Given the description of an element on the screen output the (x, y) to click on. 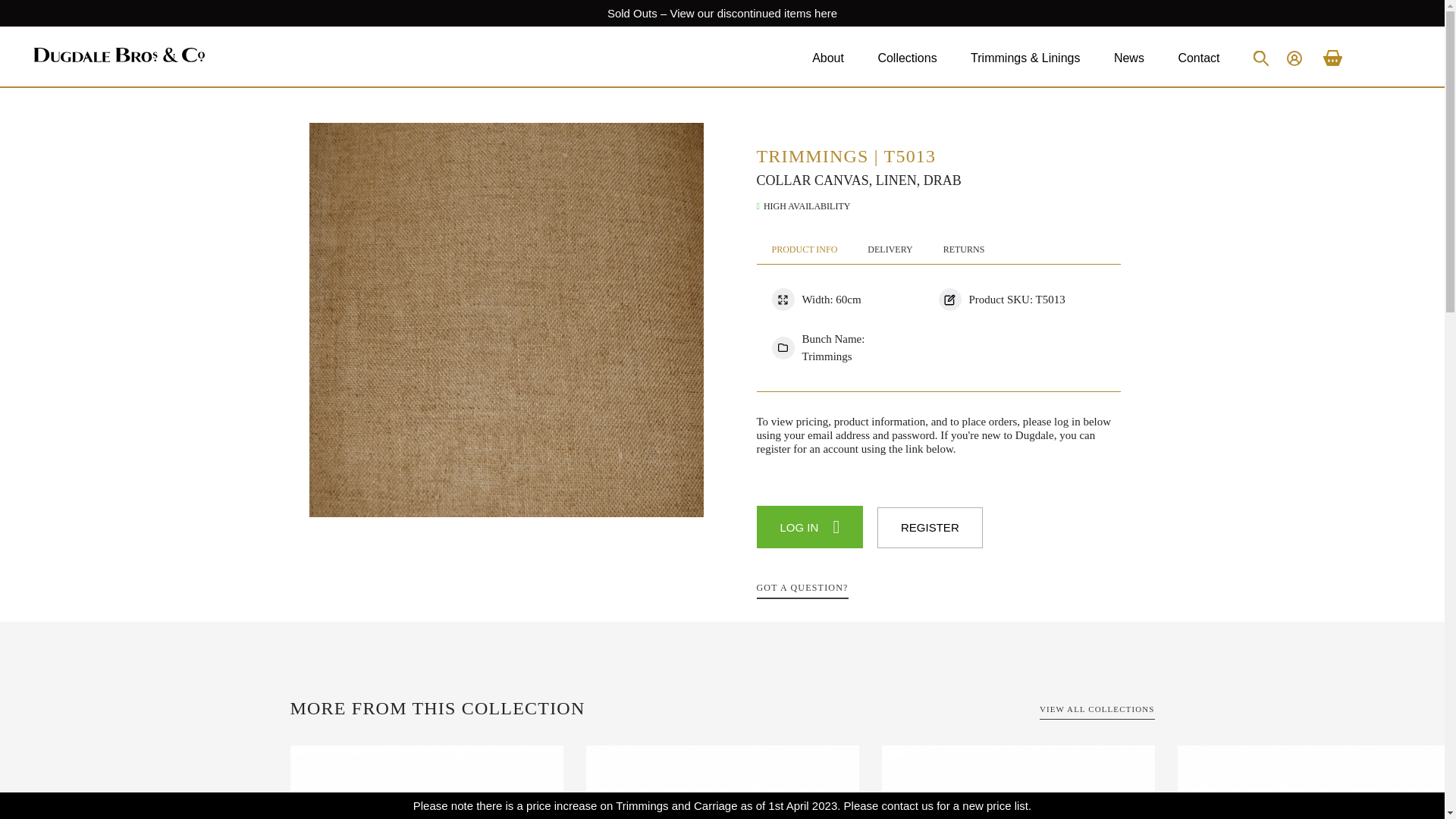
VIEW ALL COLLECTIONS (1096, 711)
REGISTER (929, 527)
Collections (906, 57)
LOG IN (810, 526)
About (828, 57)
News (1128, 57)
Contact (1198, 57)
GOT A QUESTION? (802, 590)
